Given the description of an element on the screen output the (x, y) to click on. 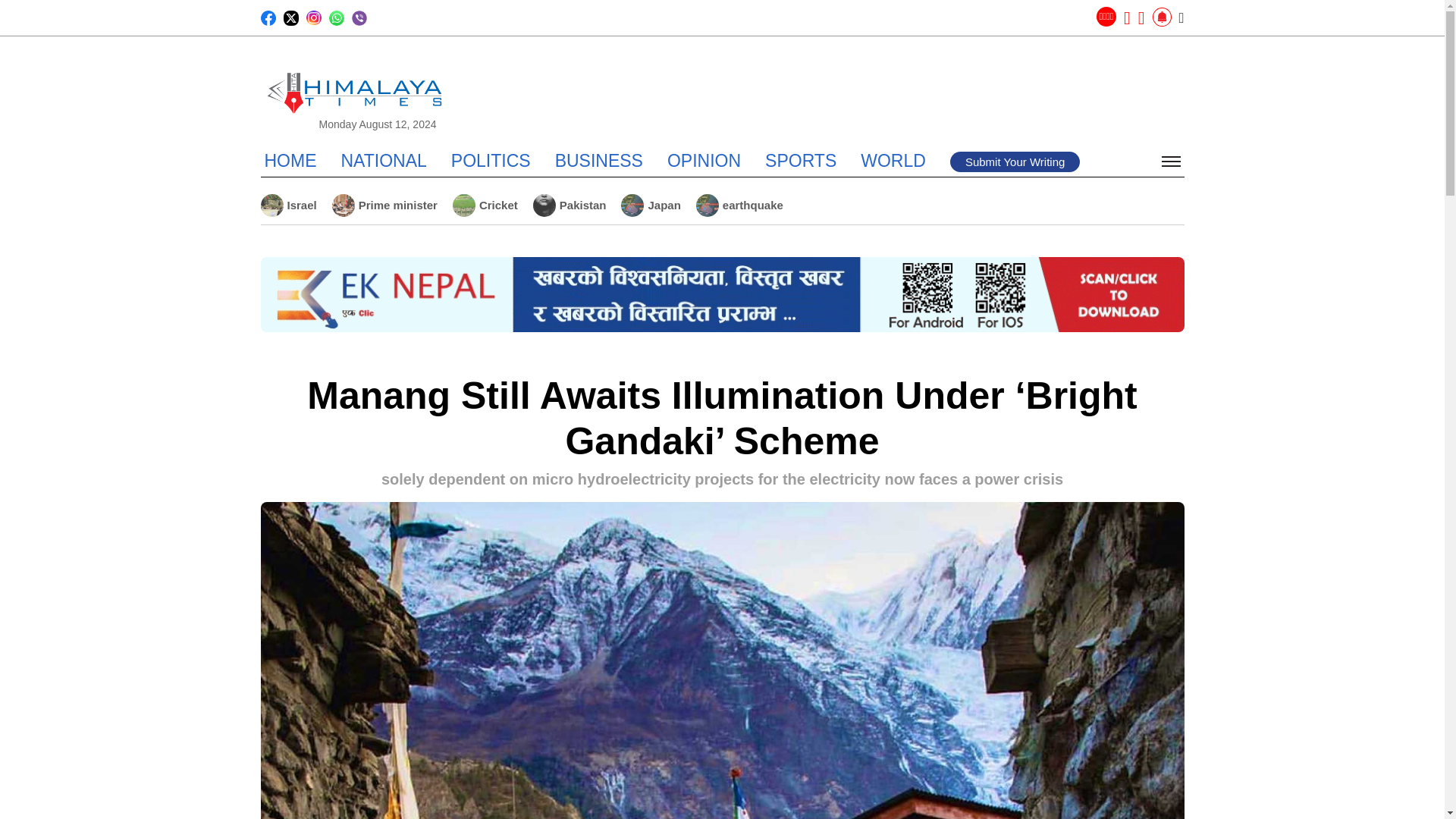
SPORTS (800, 160)
Notifications (1162, 18)
Submit Your Writing (1015, 161)
OPINION (703, 160)
BUSINESS (598, 160)
English (1106, 16)
WORLD (893, 160)
POLITICS (491, 160)
NATIONAL (383, 160)
HOME (289, 160)
